Given the description of an element on the screen output the (x, y) to click on. 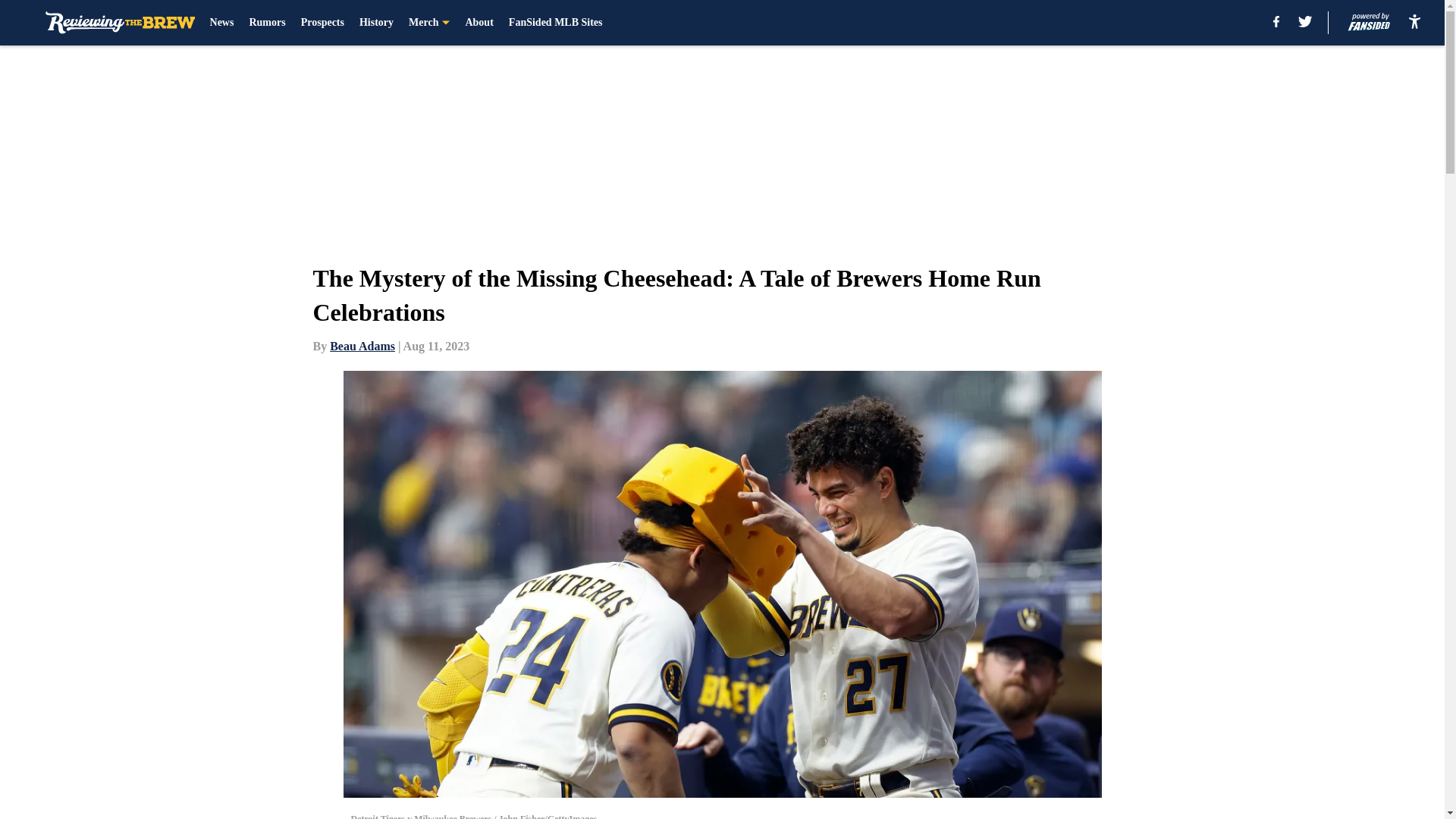
News (221, 22)
History (376, 22)
Prospects (322, 22)
FanSided MLB Sites (555, 22)
Rumors (266, 22)
About (478, 22)
Beau Adams (362, 345)
